Given the description of an element on the screen output the (x, y) to click on. 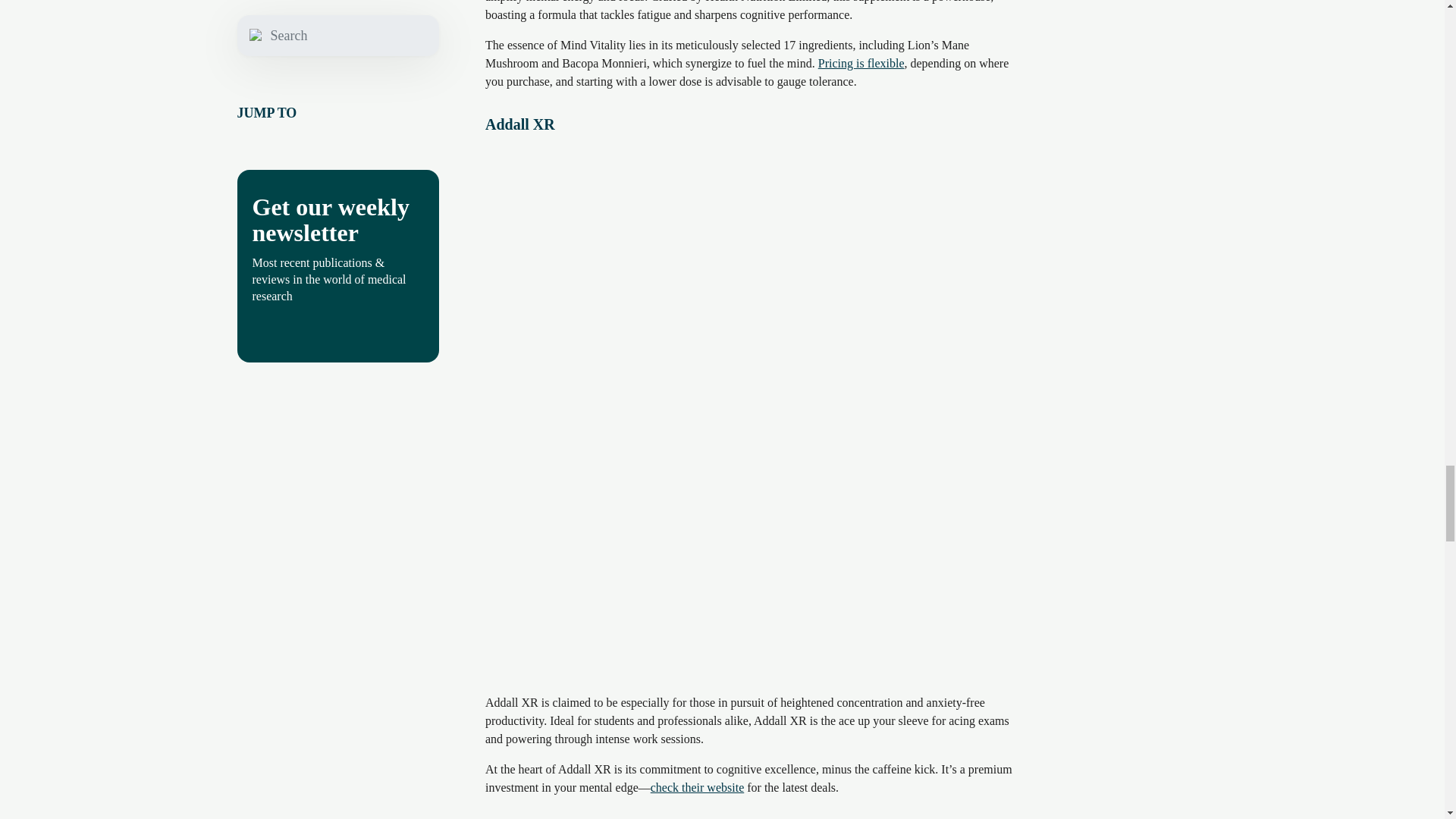
Noocube (512, 814)
check their website (697, 787)
Addall XR (519, 124)
Pricing is flexible (861, 62)
